Given the description of an element on the screen output the (x, y) to click on. 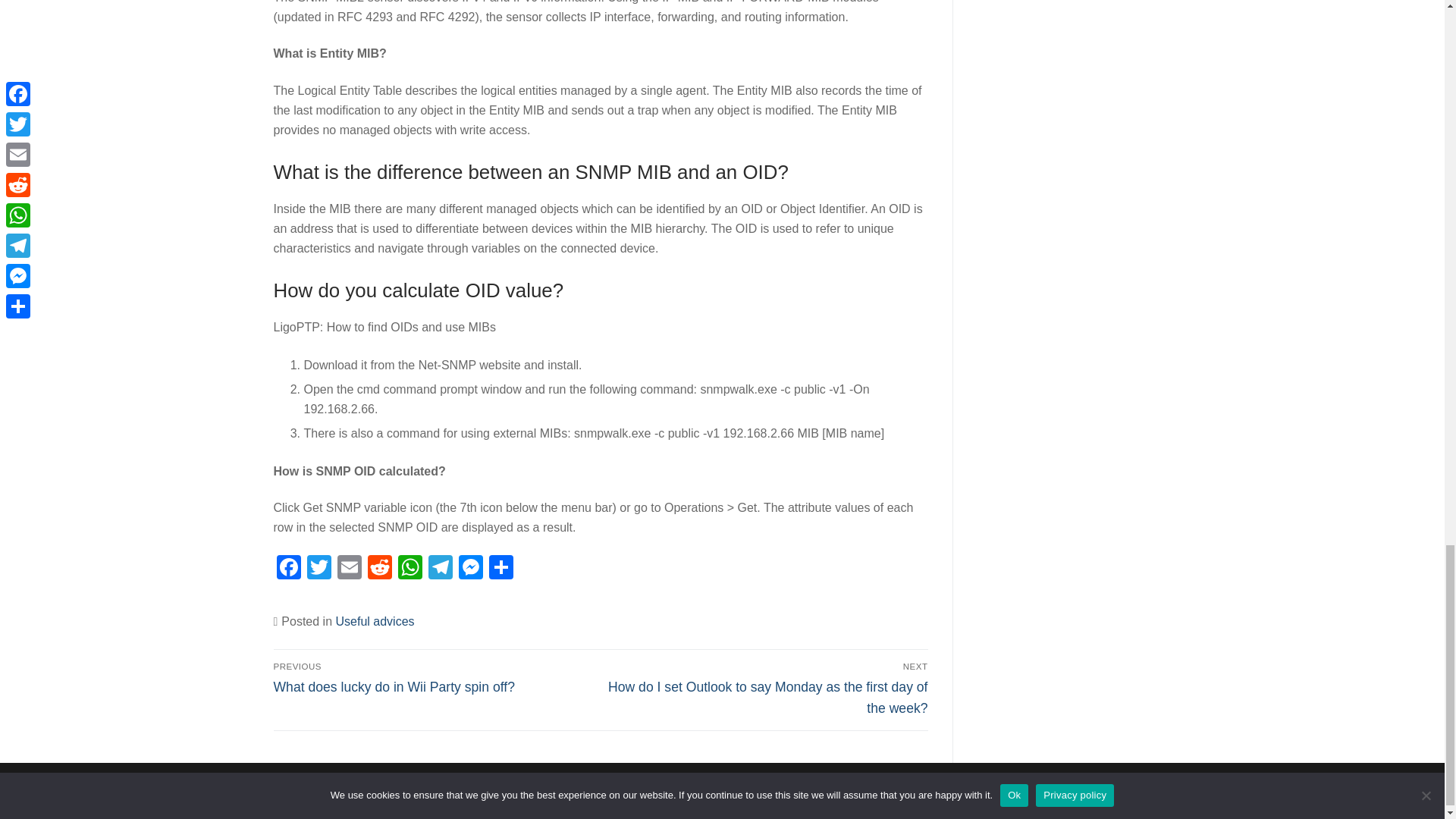
Telegram (439, 569)
WhatsApp (409, 569)
Telegram (439, 569)
Share (499, 569)
Twitter (317, 569)
Reddit (379, 569)
Useful advices (373, 621)
Email (348, 569)
Facebook (287, 569)
Messenger (469, 569)
Email (348, 569)
Facebook (287, 569)
Reddit (379, 569)
